Given the description of an element on the screen output the (x, y) to click on. 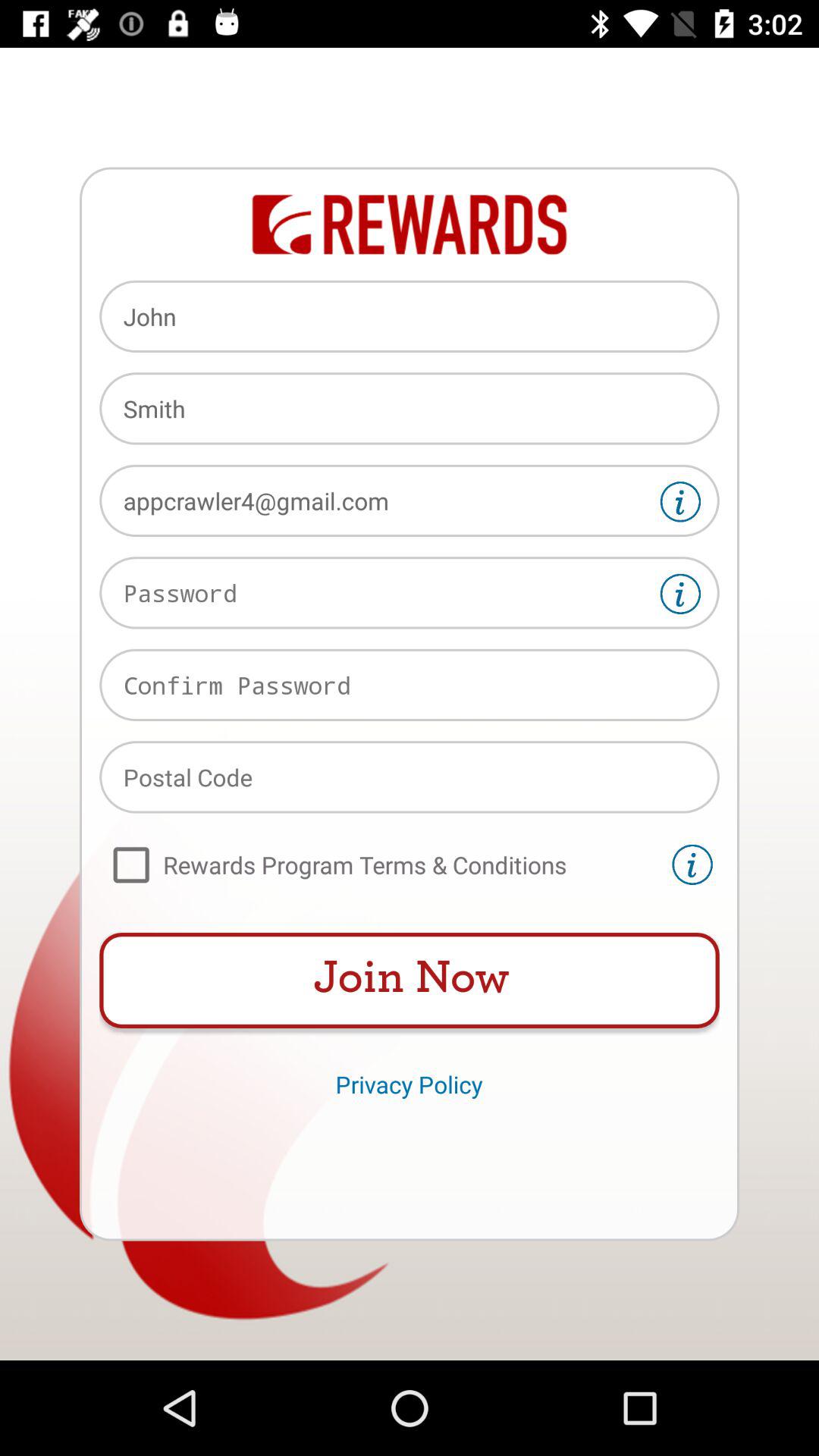
launch john icon (409, 316)
